Given the description of an element on the screen output the (x, y) to click on. 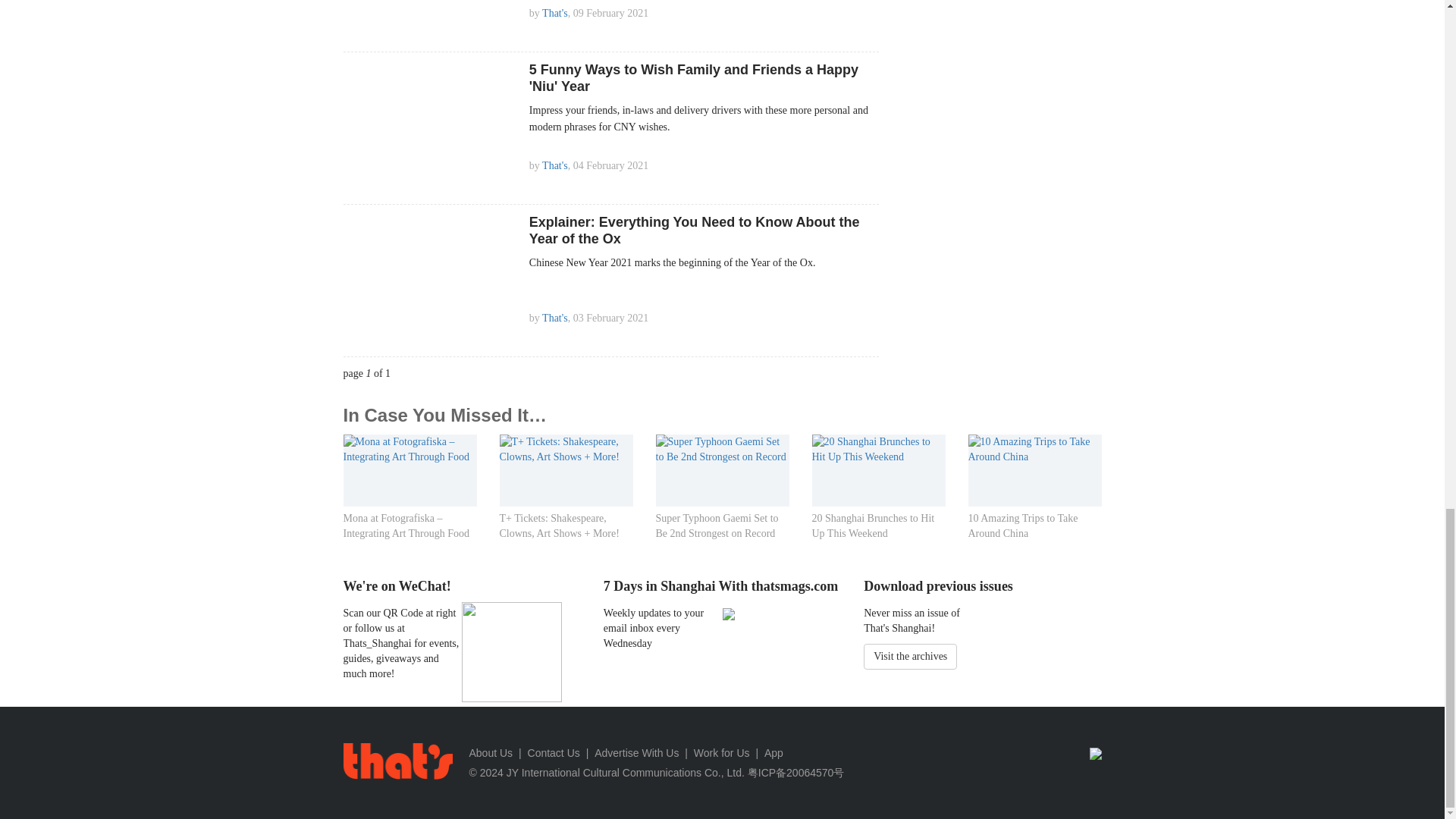
20 Shanghai Brunches to Hit Up This Weekend (877, 448)
10 Amazing Trips to Take Around China (1034, 448)
Super Typhoon Gaemi Set to Be 2nd Strongest on Record (722, 448)
